Given the description of an element on the screen output the (x, y) to click on. 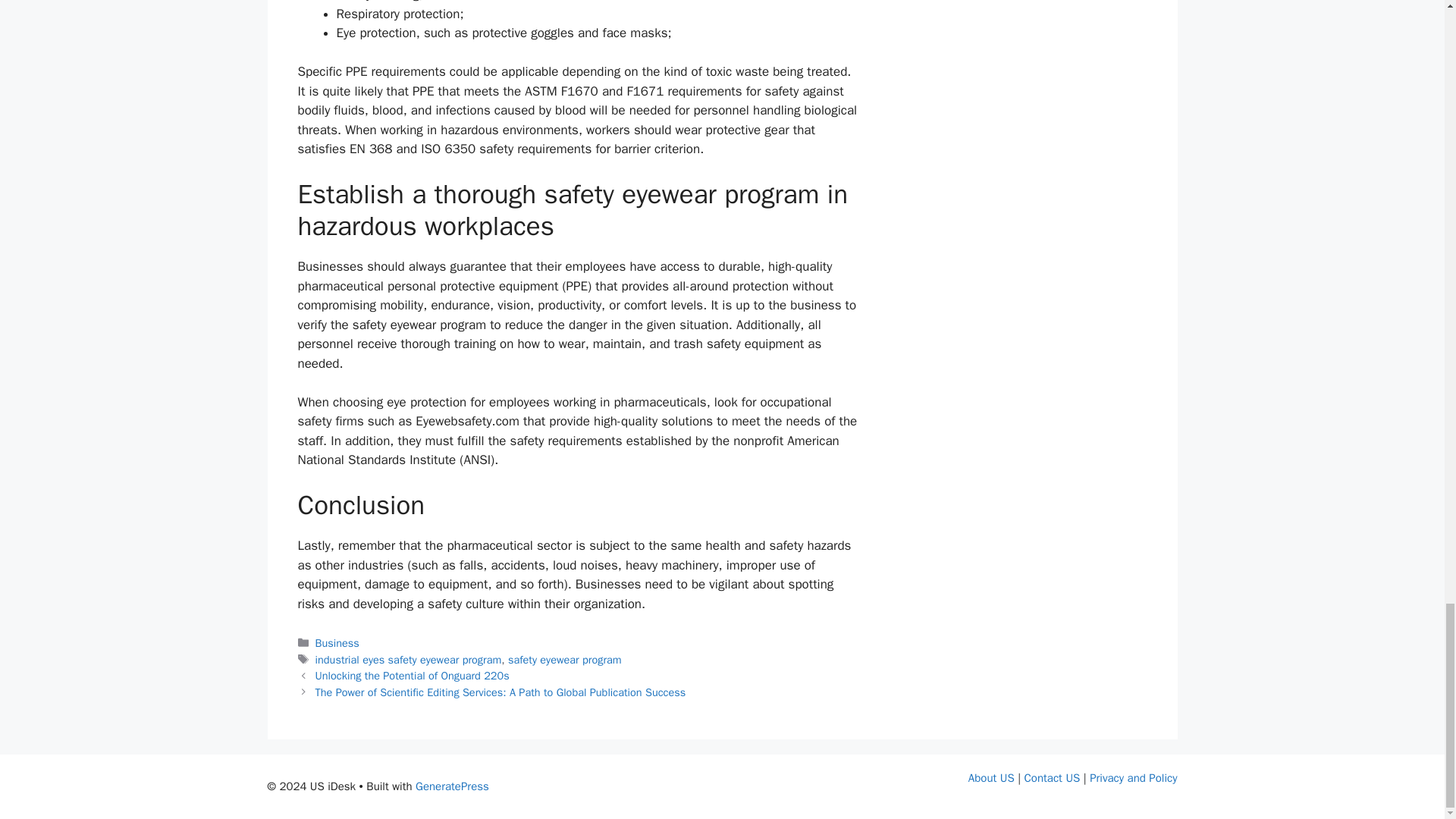
Contact US (1052, 777)
GeneratePress (451, 786)
safety eyewear program (564, 659)
Business (337, 643)
industrial eyes safety eyewear program (408, 659)
Privacy and Policy (1132, 777)
Unlocking the Potential of Onguard 220s (412, 675)
About US (991, 777)
